Given the description of an element on the screen output the (x, y) to click on. 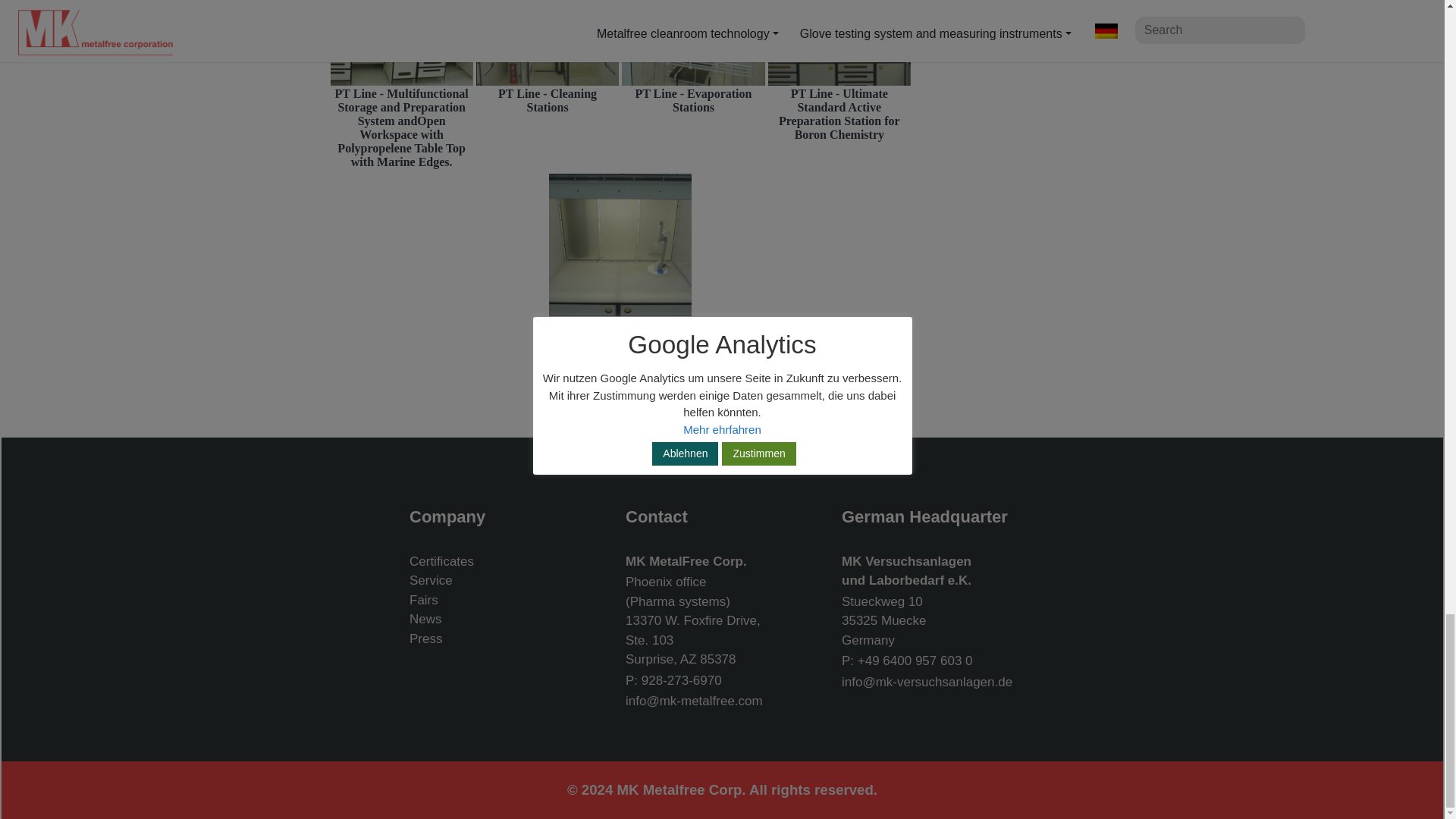
PT Line - Evaporation Stations (692, 55)
PT Line - Working areas on open Table Tops (619, 244)
PT Line - Cleaning Stations (547, 49)
